Given the description of an element on the screen output the (x, y) to click on. 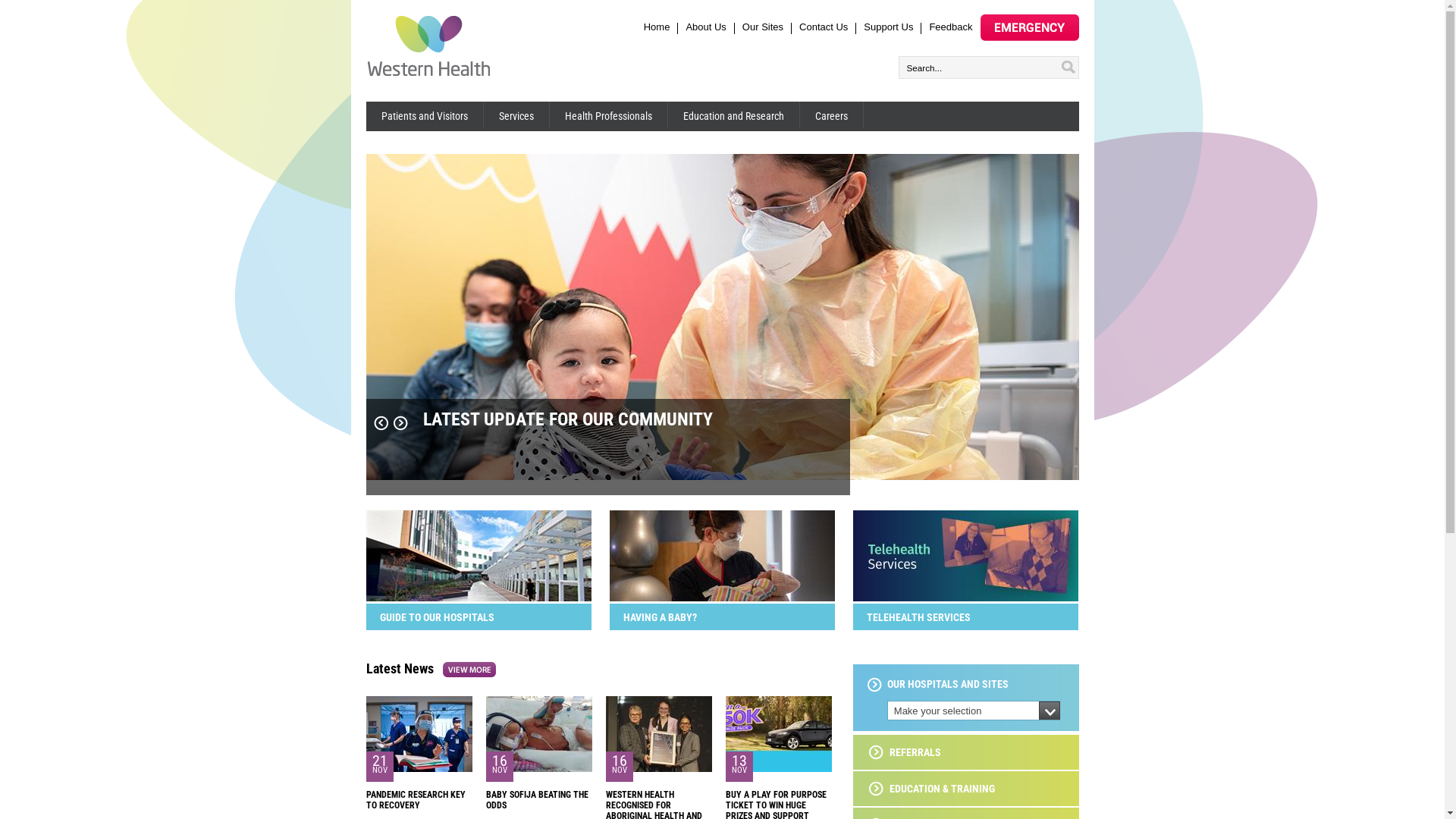
GUIDE TO OUR HOSPITALS Element type: hover (477, 597)
BABY SOFIJA BEATING THE ODDS Element type: text (536, 799)
Feedback Element type: text (950, 26)
REFERRALS Element type: text (904, 751)
TELEHEALTH SERVICES Element type: text (964, 616)
Education and Research Element type: text (733, 114)
TELEHEALTH SERVICES Element type: hover (964, 597)
Search... Element type: hover (981, 67)
Careers Element type: text (830, 114)
HAVING A BABY? Element type: text (721, 616)
PANDEMIC RESEARCH KEY TO RECOVERY Element type: text (414, 799)
Support Us Element type: text (888, 26)
GUIDE TO OUR HOSPITALS Element type: text (477, 616)
LATEST UPDATE FOR OUR COMMUNITY Element type: text (607, 457)
Patients and Visitors Element type: text (424, 114)
Services Element type: text (516, 114)
Health Professionals Element type: text (608, 114)
Home Element type: text (656, 26)
Previous Element type: text (380, 422)
Search Element type: hover (1069, 64)
Baby Sofija beating the odds  Element type: hover (538, 768)
Latest update for our community Element type: hover (721, 476)
Next Element type: text (399, 422)
Pandemic research key to recovery Element type: hover (418, 768)
Contact Us Element type: text (823, 26)
EDUCATION & TRAINING Element type: text (931, 788)
Our Sites Element type: text (762, 26)
HAVING A BABY? Element type: hover (721, 597)
About Us Element type: text (705, 26)
